Given the description of an element on the screen output the (x, y) to click on. 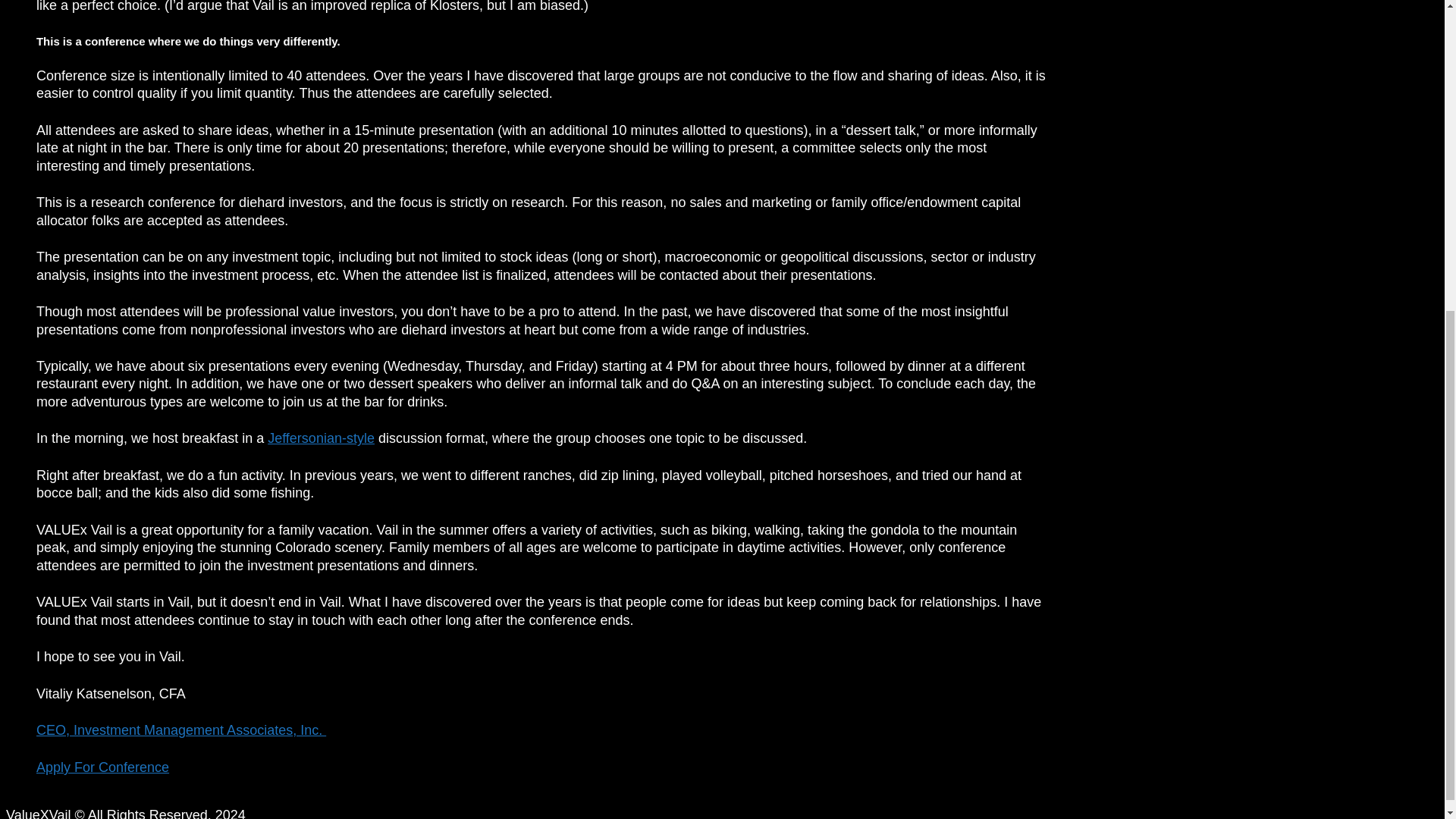
Jeffersonian-style (320, 437)
CEO, Investment Management Associates, Inc.  (181, 729)
Apply For Conference (102, 767)
